Given the description of an element on the screen output the (x, y) to click on. 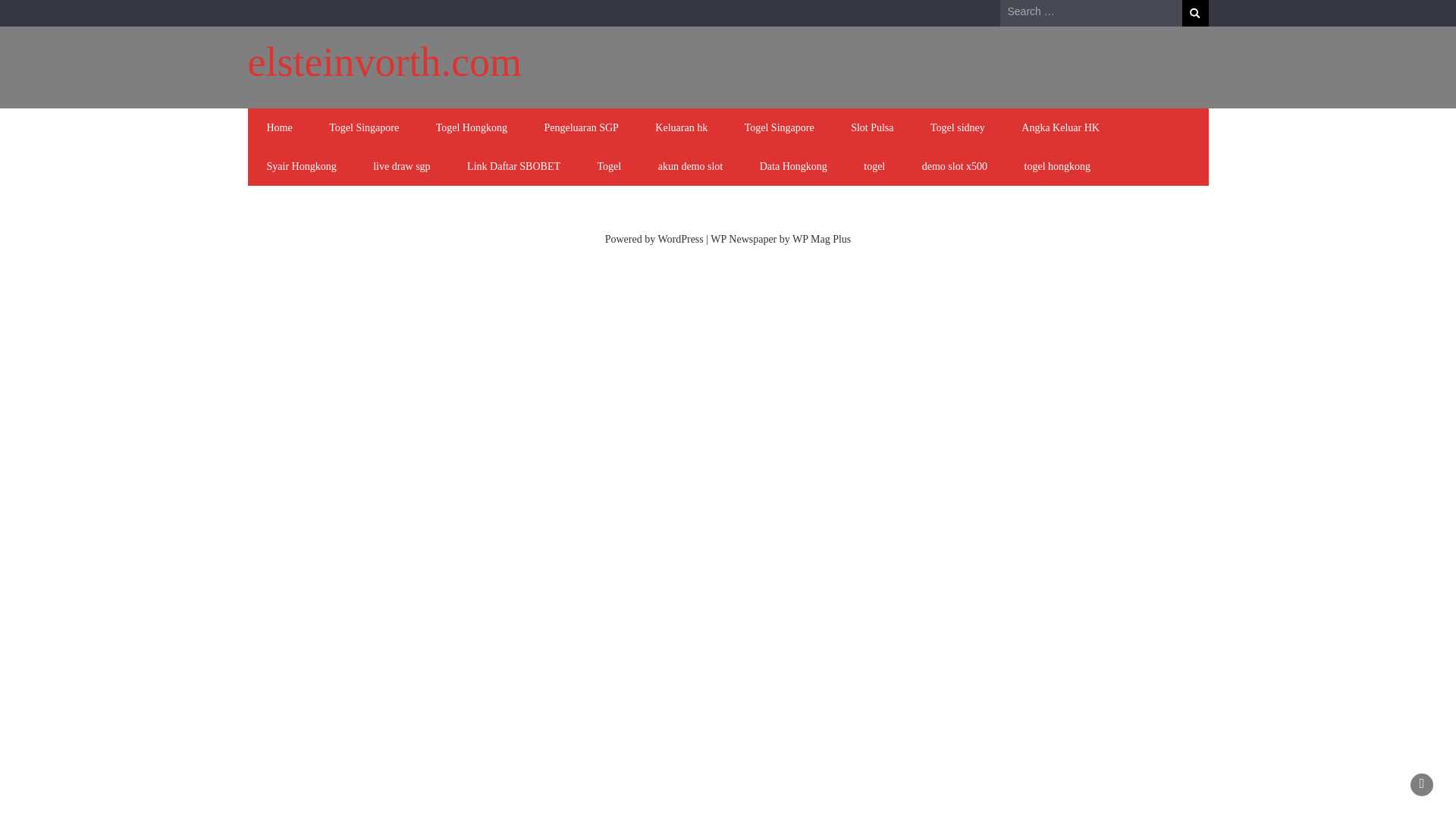
Togel sidney (957, 127)
akun demo slot (690, 166)
togel (873, 166)
Syair Hongkong (301, 166)
Data Hongkong (793, 166)
Togel Hongkong (471, 127)
Search for: (1089, 11)
WP Newspaper by WP Mag Plus (780, 238)
Togel (608, 166)
Togel Singapore (779, 127)
WordPress (680, 238)
Link Daftar SBOBET (513, 166)
Slot Pulsa (871, 127)
demo slot x500 (955, 166)
Togel Singapore (363, 127)
